Given the description of an element on the screen output the (x, y) to click on. 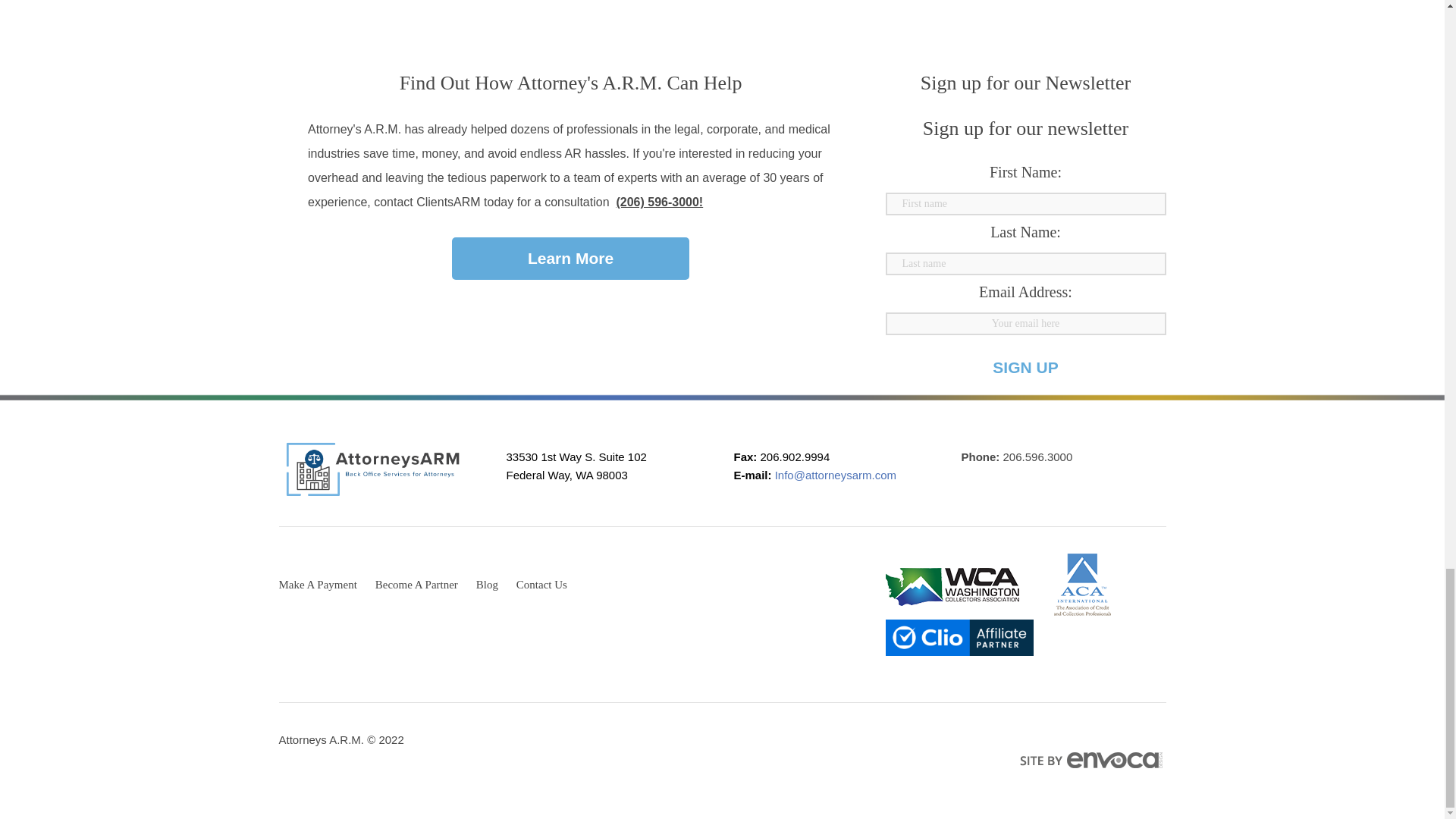
Blog (486, 584)
Become A Partner (416, 584)
SIGN UP (1025, 367)
Site by Envoca (1091, 759)
Learn More (569, 258)
SIGN UP (1025, 367)
Contact Us (541, 584)
Learn More (569, 258)
Make A Payment (317, 584)
